Given the description of an element on the screen output the (x, y) to click on. 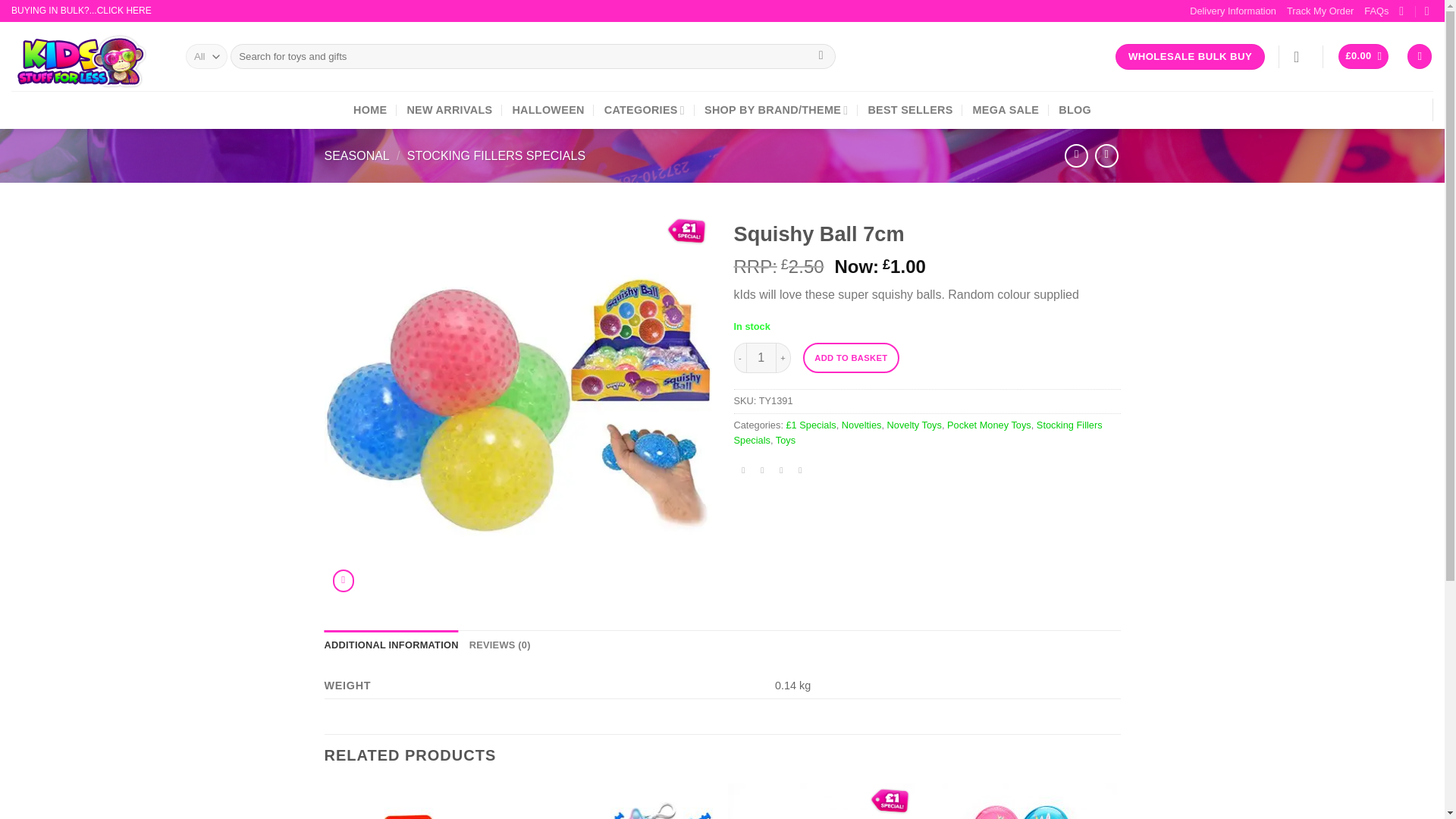
Share on Facebook (743, 471)
Track My Order (1320, 11)
NEW ARRIVALS (449, 109)
WHOLESALE BULK BUY (1190, 56)
HALLOWEEN (547, 109)
Zoom (343, 580)
BUYING IN BULK?...CLICK HERE (81, 9)
Kids Stuff For Less (87, 56)
1 (760, 358)
Delivery Information (1232, 11)
